Given the description of an element on the screen output the (x, y) to click on. 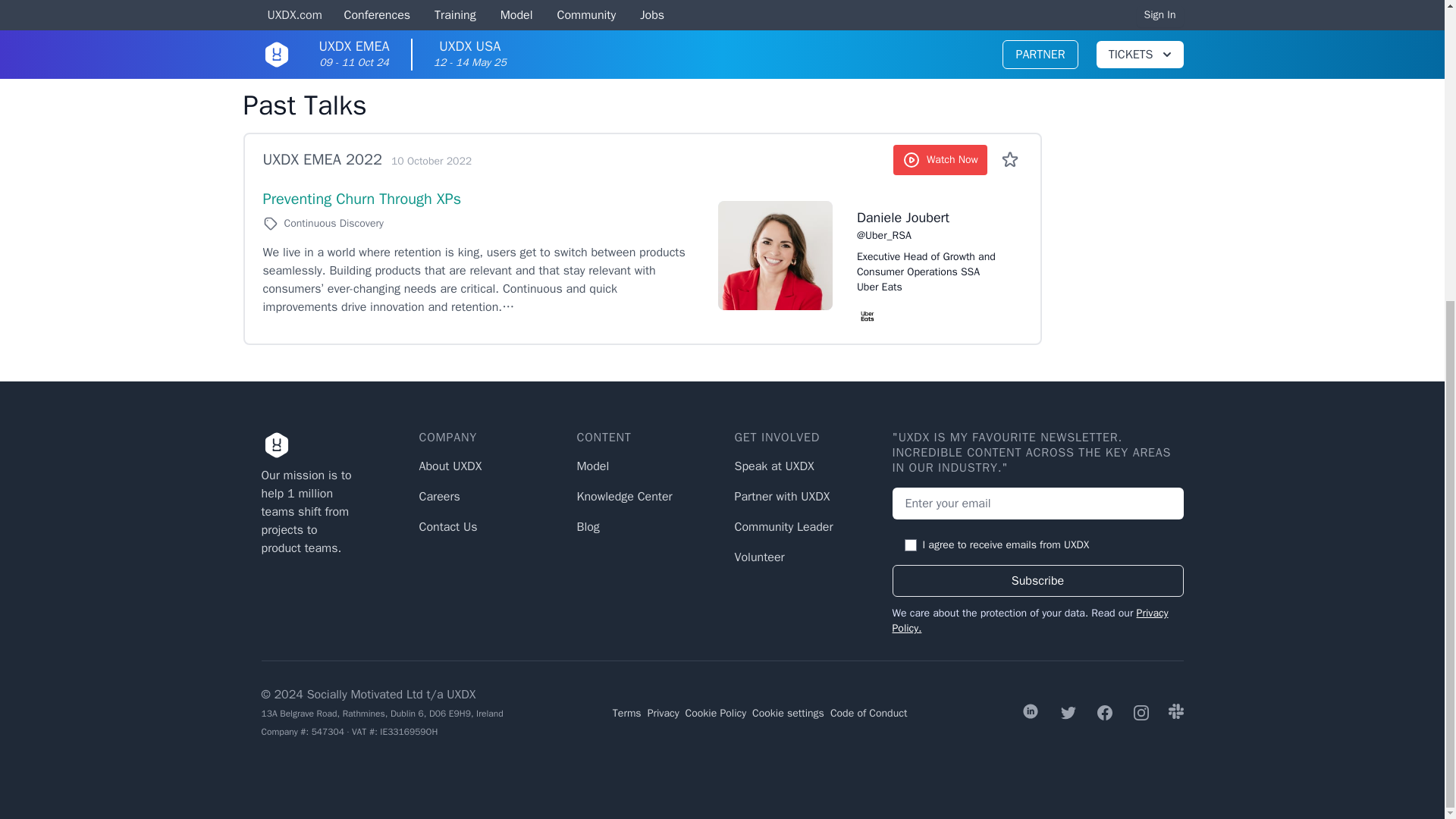
About UXDX (450, 466)
Contact Us (448, 526)
Watch Now (939, 159)
Speak at UXDX (773, 466)
Knowledge Center (623, 496)
UXDX EMEA 2022 (321, 158)
Careers (439, 496)
Preventing Churn Through XPs (361, 198)
on (909, 544)
Daniele Joubert (930, 217)
Model (592, 466)
Blog (587, 526)
